Given the description of an element on the screen output the (x, y) to click on. 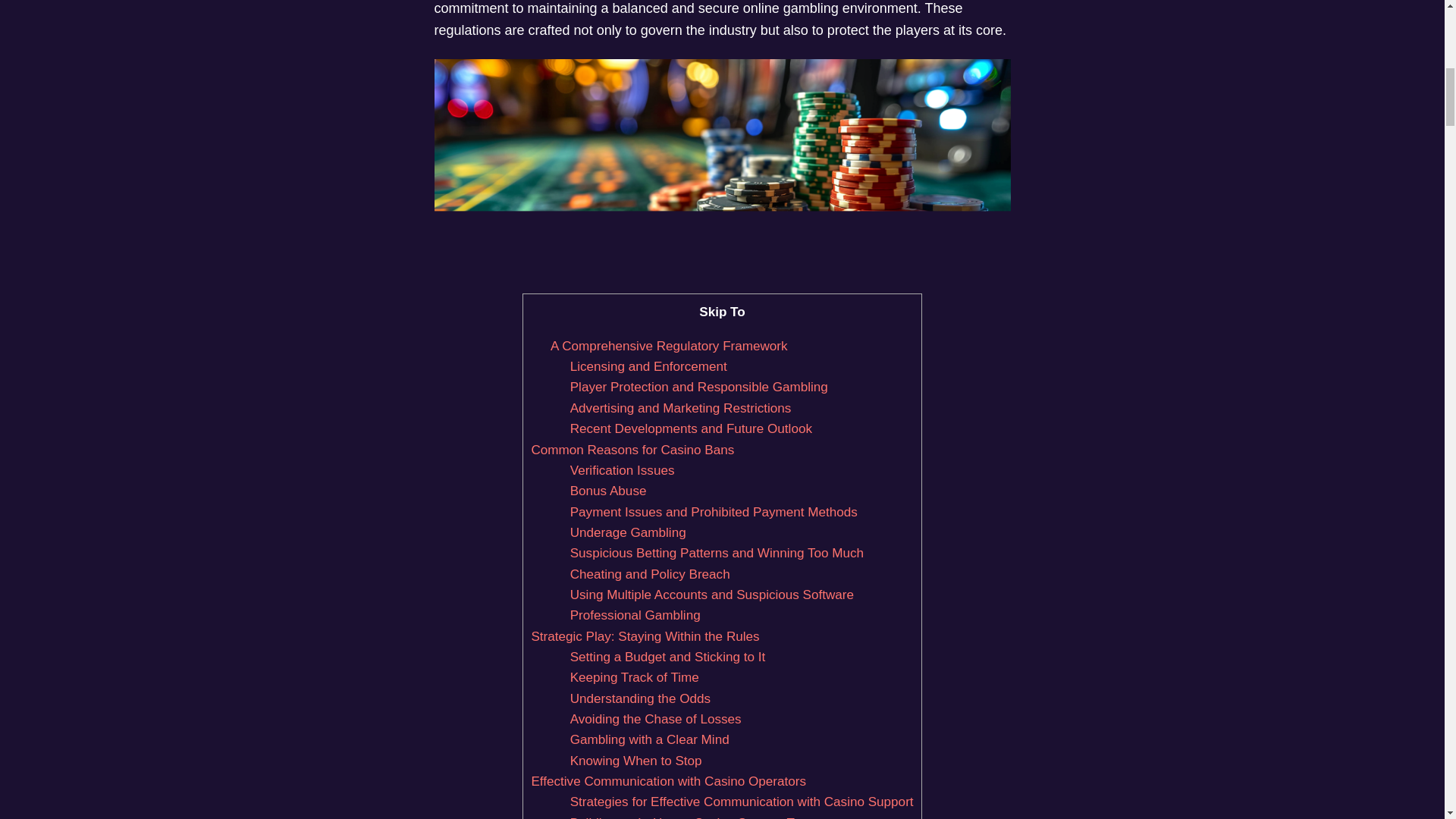
Verification Issues (622, 470)
Understanding the Odds (640, 698)
Gambling with a Clear Mind (649, 739)
Knowing When to Stop (635, 760)
Cheating and Policy Breach (650, 574)
Effective Communication with Casino Operators (668, 780)
Avoiding the Chase of Losses (655, 718)
Setting a Budget and Sticking to It (667, 657)
Advertising and Marketing Restrictions (681, 408)
Professional Gambling (635, 615)
